Given the description of an element on the screen output the (x, y) to click on. 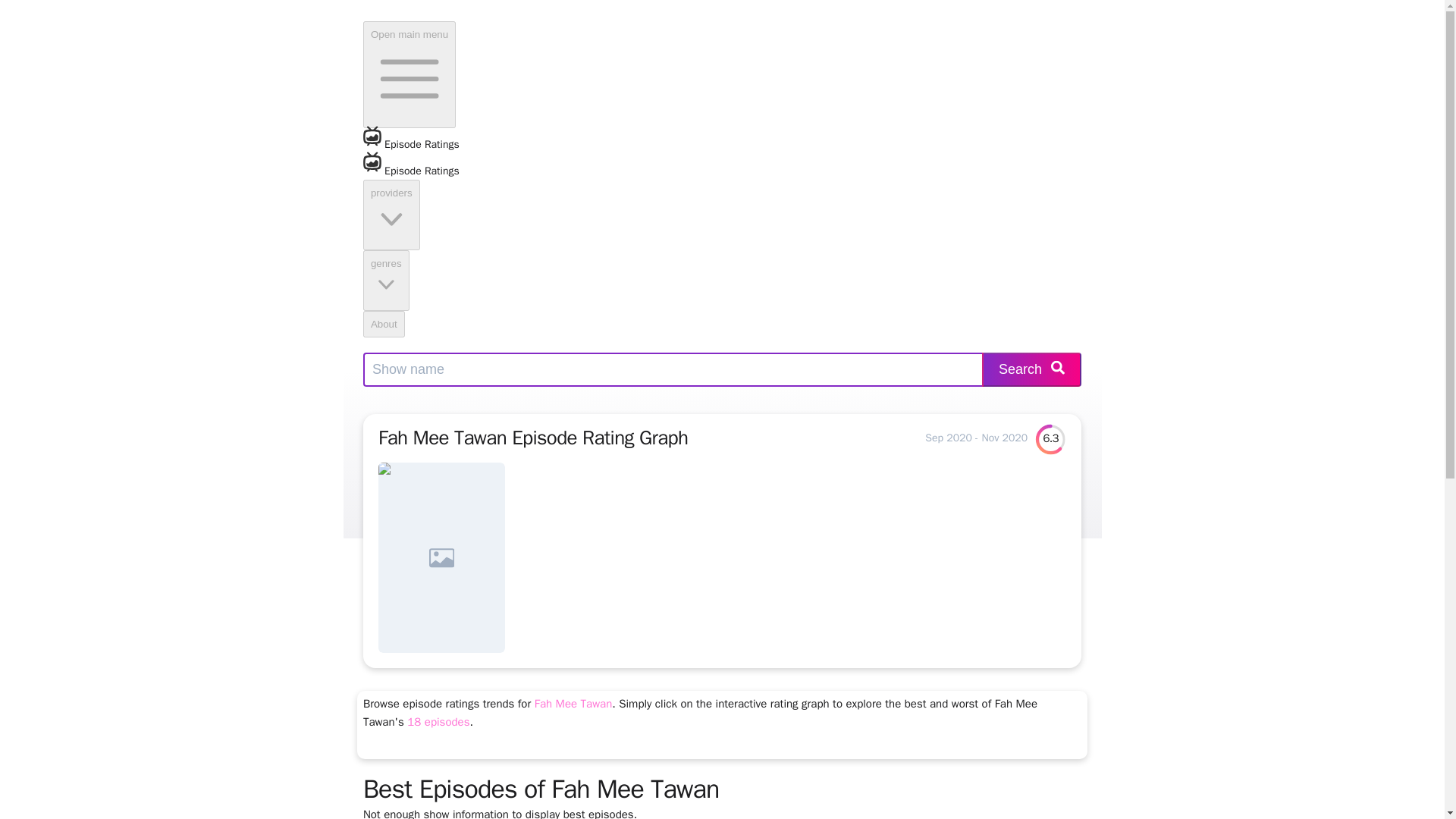
About (383, 324)
Episode Ratings (411, 144)
Episode Ratings (721, 175)
Search (1031, 369)
